Given the description of an element on the screen output the (x, y) to click on. 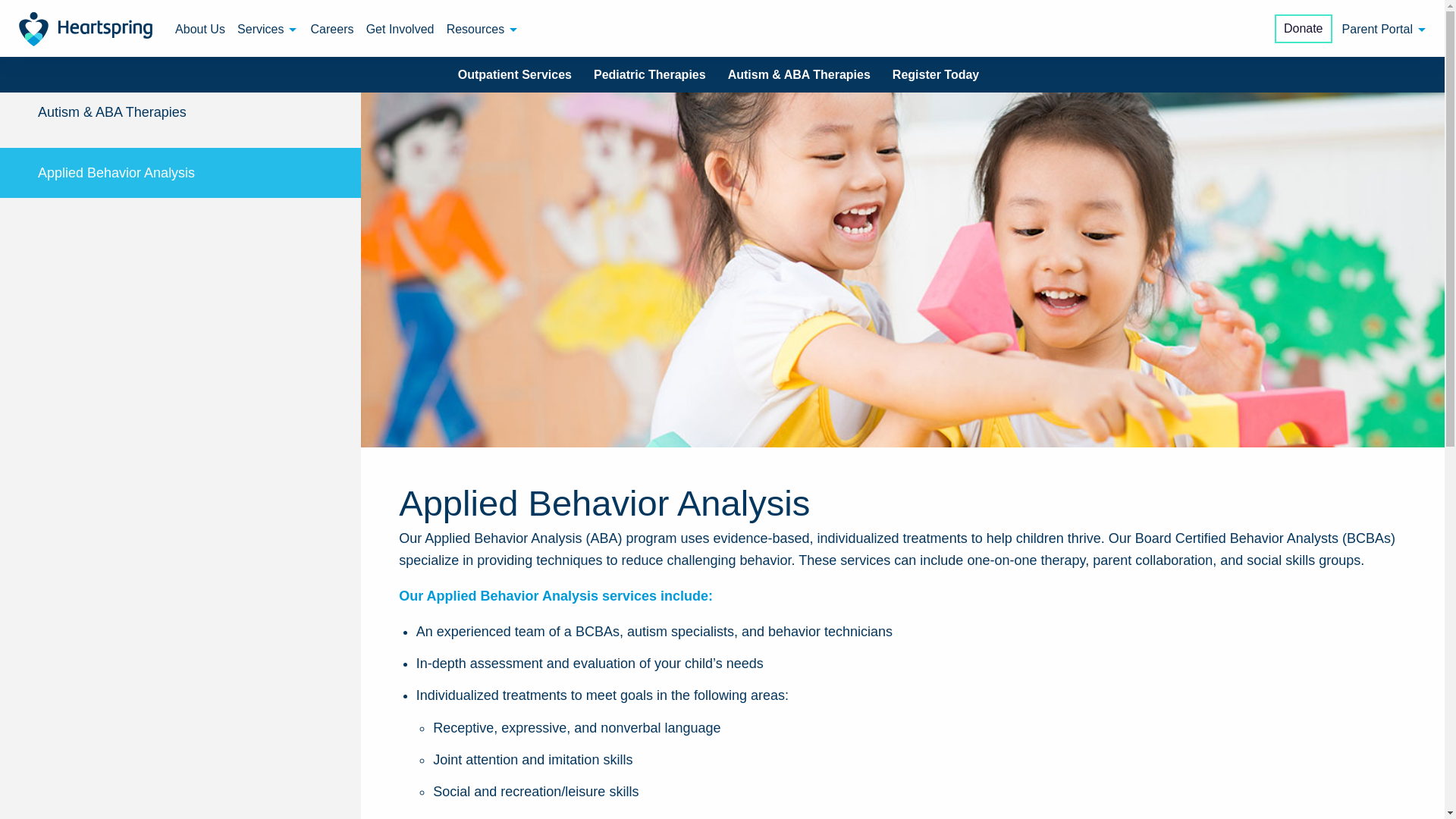
Get Involved (400, 28)
Donate (1303, 28)
Services (267, 28)
Parent Portal (1384, 28)
Resources (483, 28)
Careers (331, 28)
About Us (199, 28)
